Given the description of an element on the screen output the (x, y) to click on. 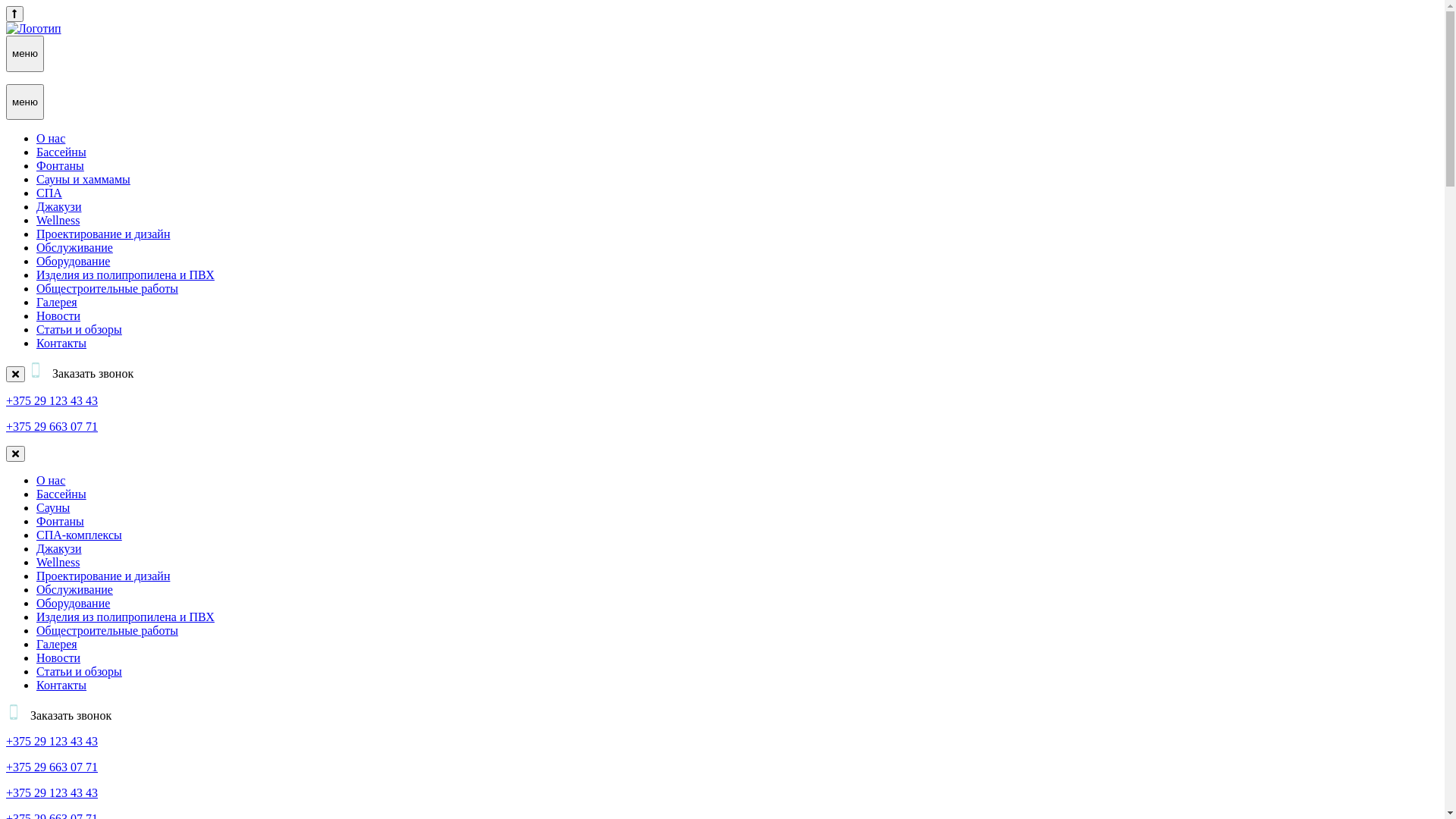
+375 29 123 43 43 Element type: text (51, 740)
+375 29 663 07 71 Element type: text (51, 426)
Wellness Element type: text (57, 561)
+375 29 123 43 43 Element type: text (51, 400)
Wellness Element type: text (57, 219)
+375 29 663 07 71 Element type: text (51, 766)
+375 29 123 43 43 Element type: text (51, 792)
